Given the description of an element on the screen output the (x, y) to click on. 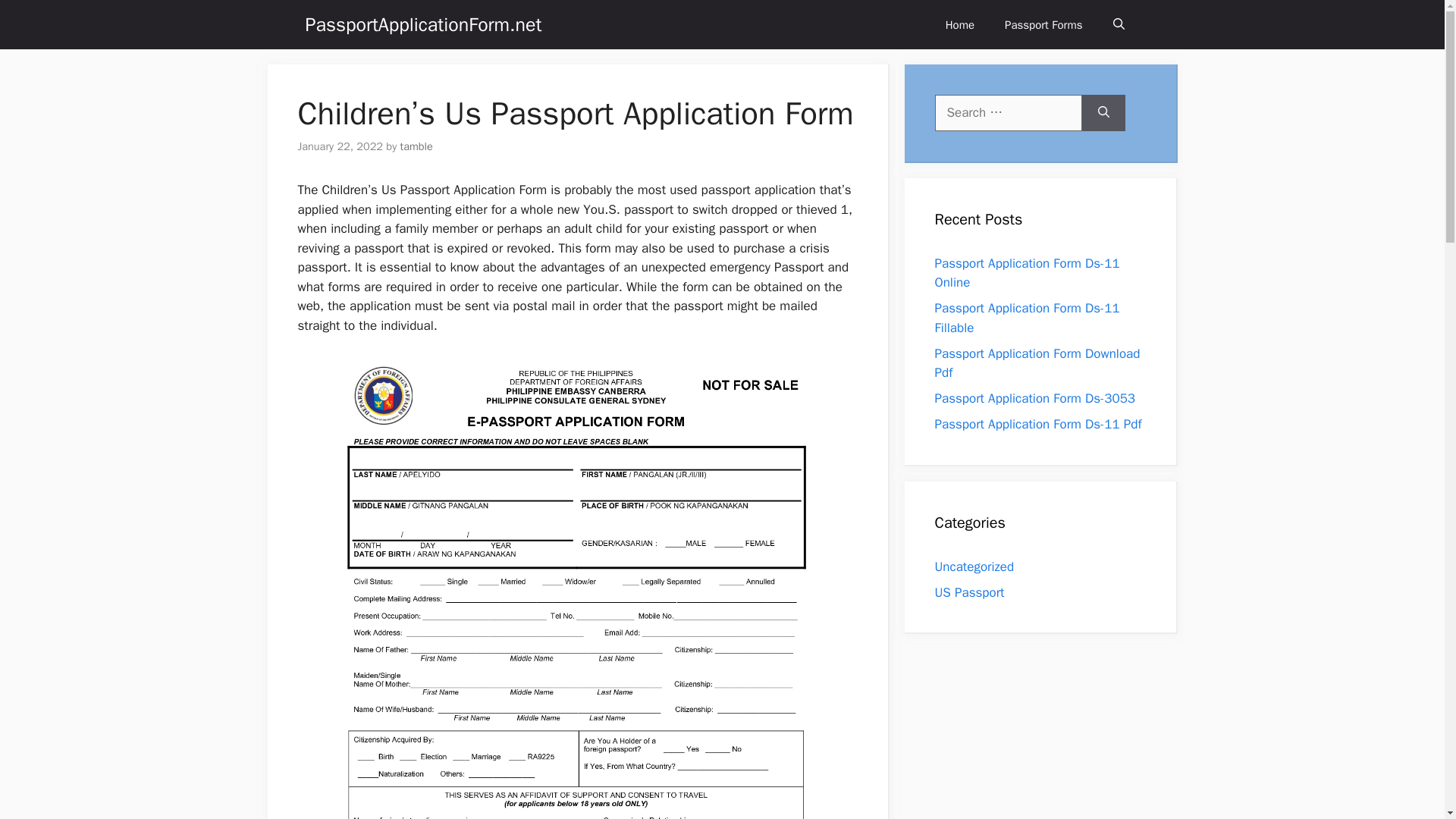
Search for: (1007, 113)
Passport Application Form Ds-11 Online (1026, 272)
US Passport (969, 591)
tamble (416, 146)
Uncategorized (973, 565)
Passport Application Form Ds-11 Fillable (1026, 317)
Passport Application Form Download Pdf (1037, 363)
Passport Application Form Ds-11 Pdf (1037, 424)
Passport Application Form Ds-3053 (1034, 398)
Passport Forms (1043, 23)
View all posts by tamble (416, 146)
PassportApplicationForm.net (422, 24)
Home (960, 23)
